Given the description of an element on the screen output the (x, y) to click on. 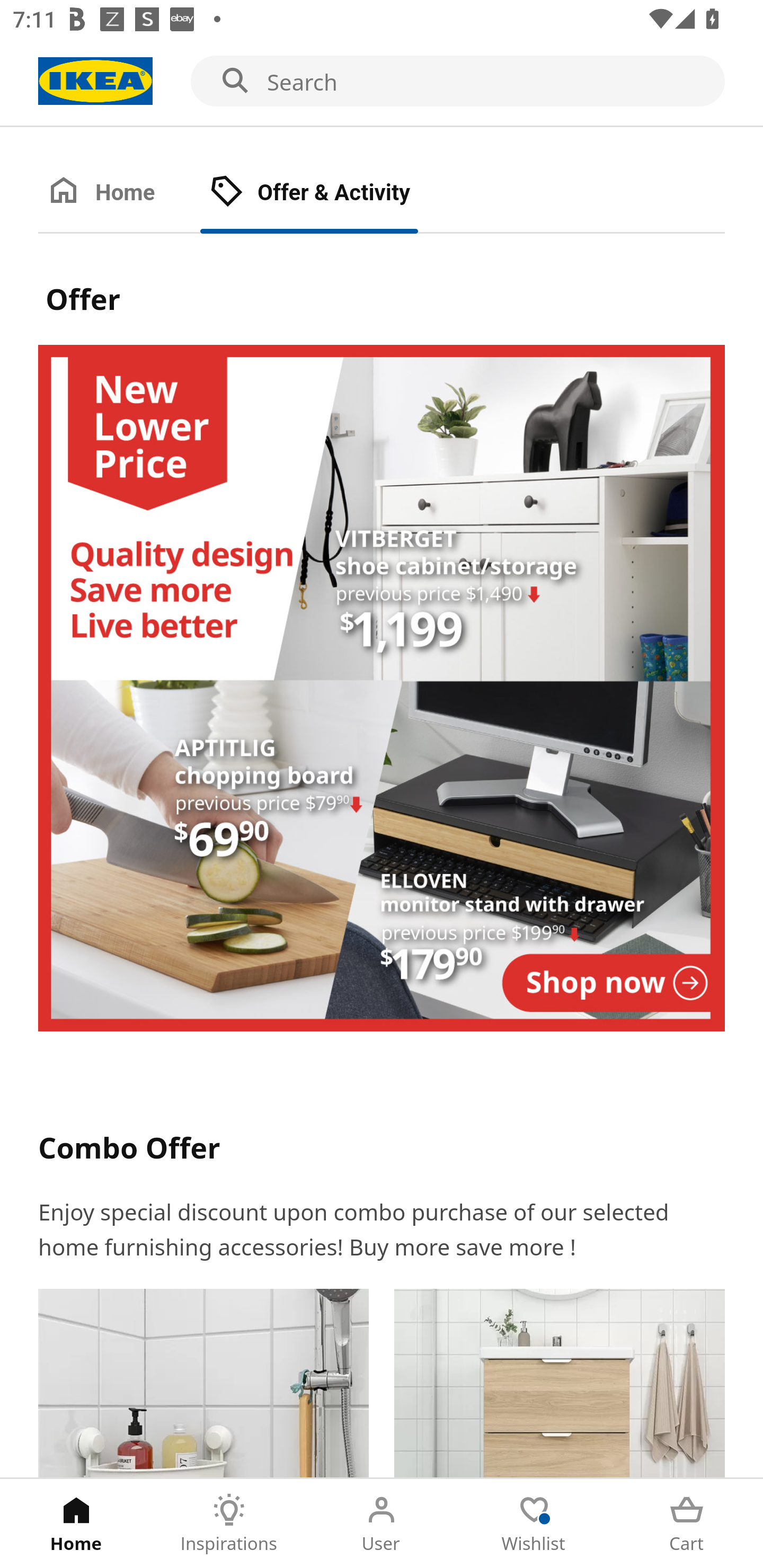
Search (381, 81)
Home
Tab 1 of 2 (118, 192)
Offer & Activity
Tab 2 of 2 (327, 192)
Home
Tab 1 of 5 (76, 1522)
Inspirations
Tab 2 of 5 (228, 1522)
User
Tab 3 of 5 (381, 1522)
Wishlist
Tab 4 of 5 (533, 1522)
Cart
Tab 5 of 5 (686, 1522)
